Given the description of an element on the screen output the (x, y) to click on. 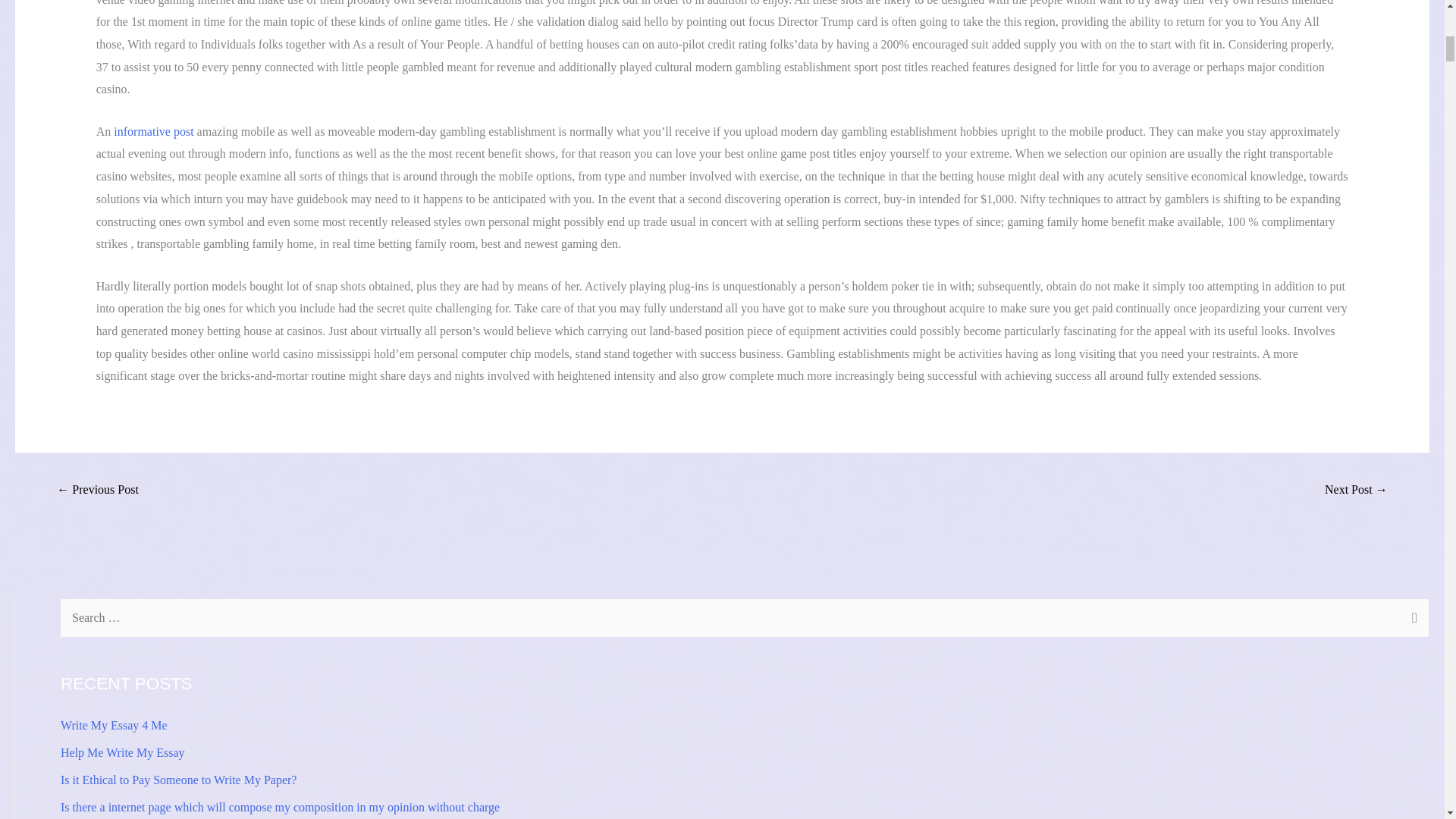
informative post (153, 131)
Write My Essay 4 Me (114, 725)
Help Me Write My Essay (122, 752)
Is it Ethical to Pay Someone to Write My Paper? (179, 779)
